Given the description of an element on the screen output the (x, y) to click on. 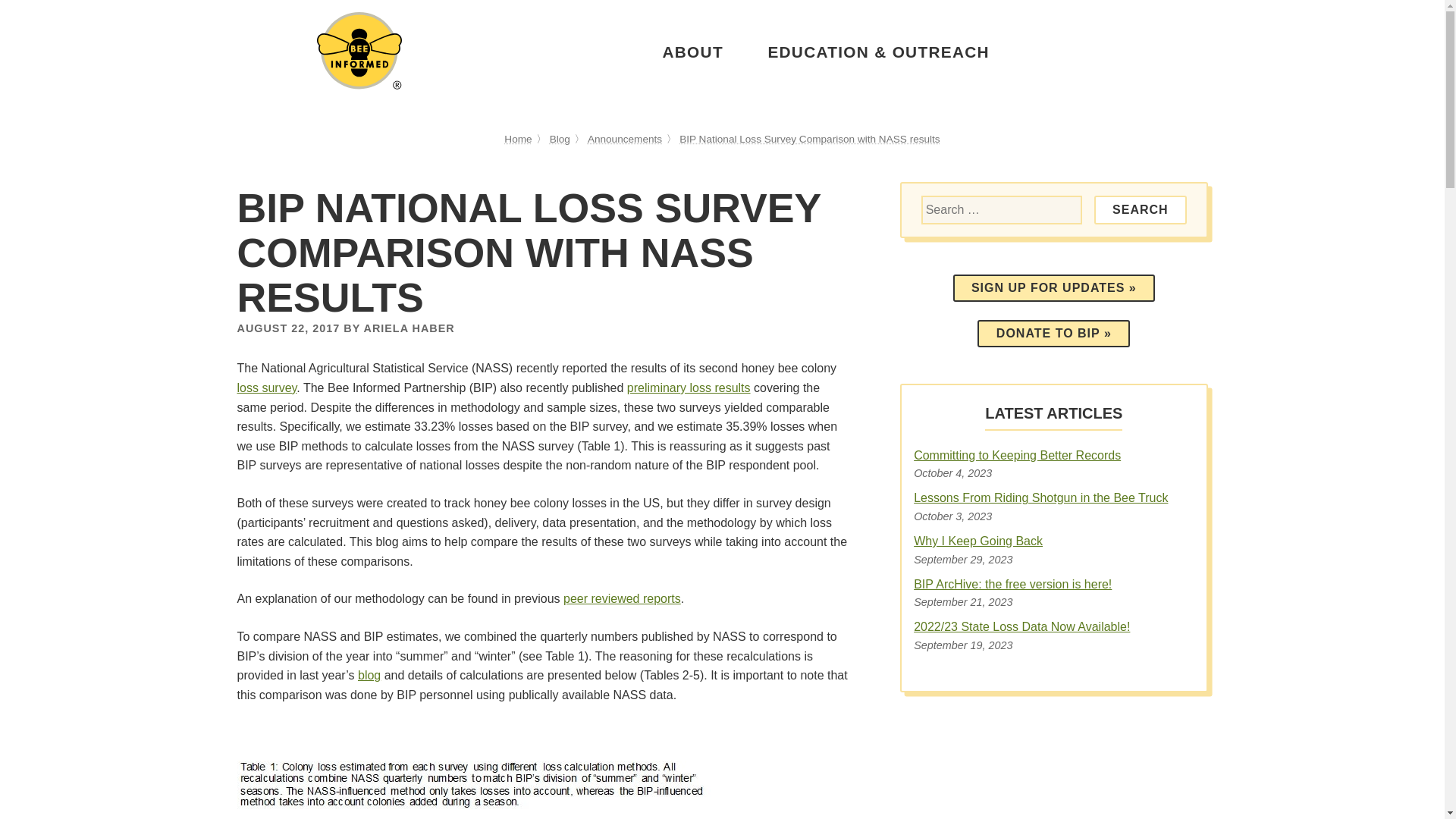
Blog (560, 139)
Search (1140, 209)
AUGUST 22, 2017 (287, 328)
ARIELA HABER (408, 328)
Bee Informed Partnership logo (359, 84)
peer reviewed reports (622, 598)
blog (369, 675)
ABOUT (692, 52)
Home (517, 139)
preliminary loss results (689, 387)
Announcements (625, 139)
loss survey (266, 387)
Search (1140, 209)
Bee Informed Partnership logo (359, 50)
BIP National Loss Survey Comparison with NASS results (809, 139)
